Given the description of an element on the screen output the (x, y) to click on. 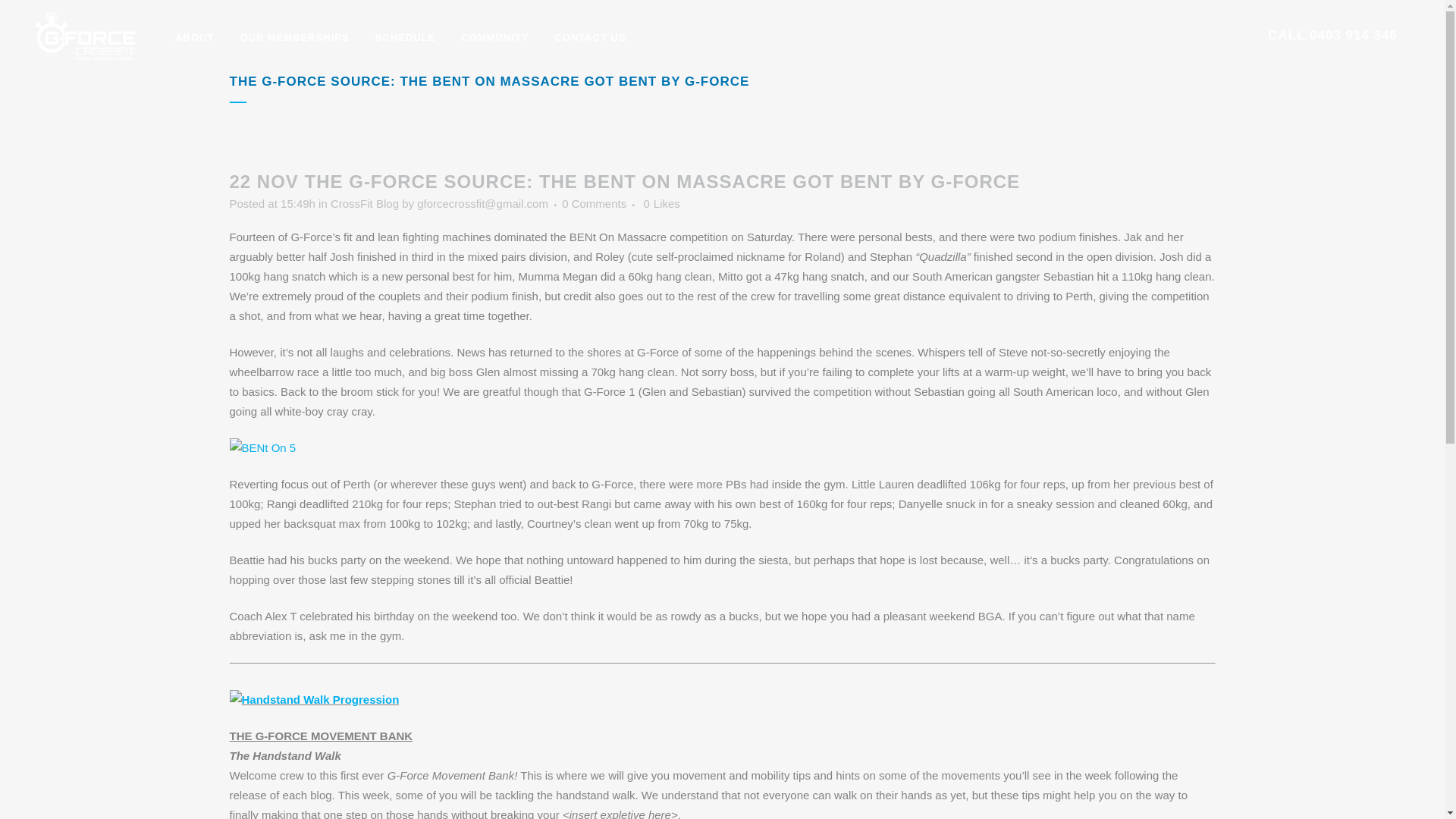
CrossFit Blog Element type: text (364, 203)
gforcecrossfit@gmail.com Element type: text (482, 203)
0 Comments Element type: text (593, 203)
SCHEDULE Element type: text (405, 37)
0 Likes Element type: text (661, 203)
0403 914 346 Element type: text (1353, 35)
CONTACT US Element type: text (589, 37)
OUR MEMBERSHIPS Element type: text (293, 37)
COMMUNITY Element type: text (494, 37)
ABOUT Element type: text (194, 37)
